Given the description of an element on the screen output the (x, y) to click on. 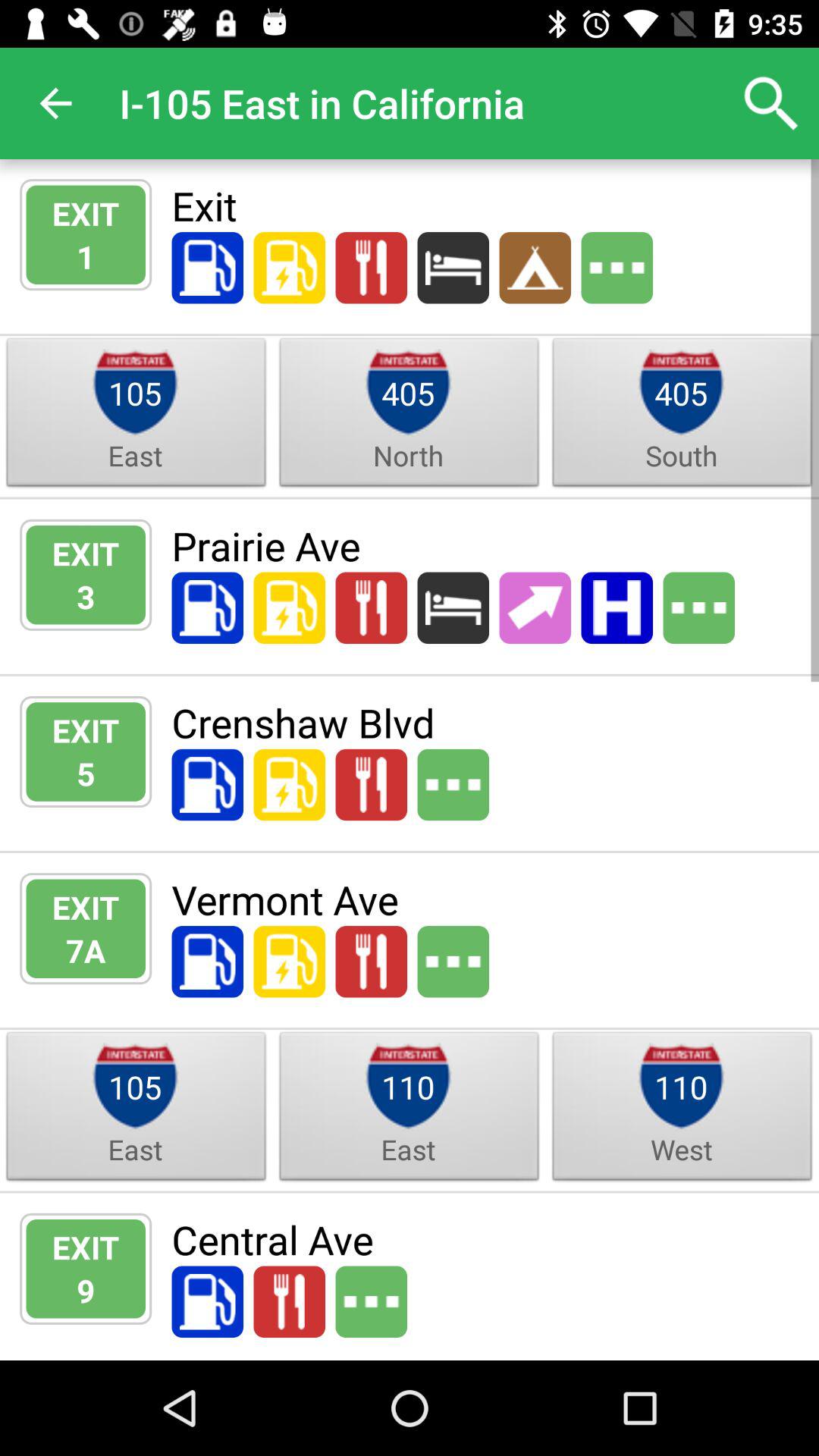
choose the icon to the right of the exit (485, 545)
